Given the description of an element on the screen output the (x, y) to click on. 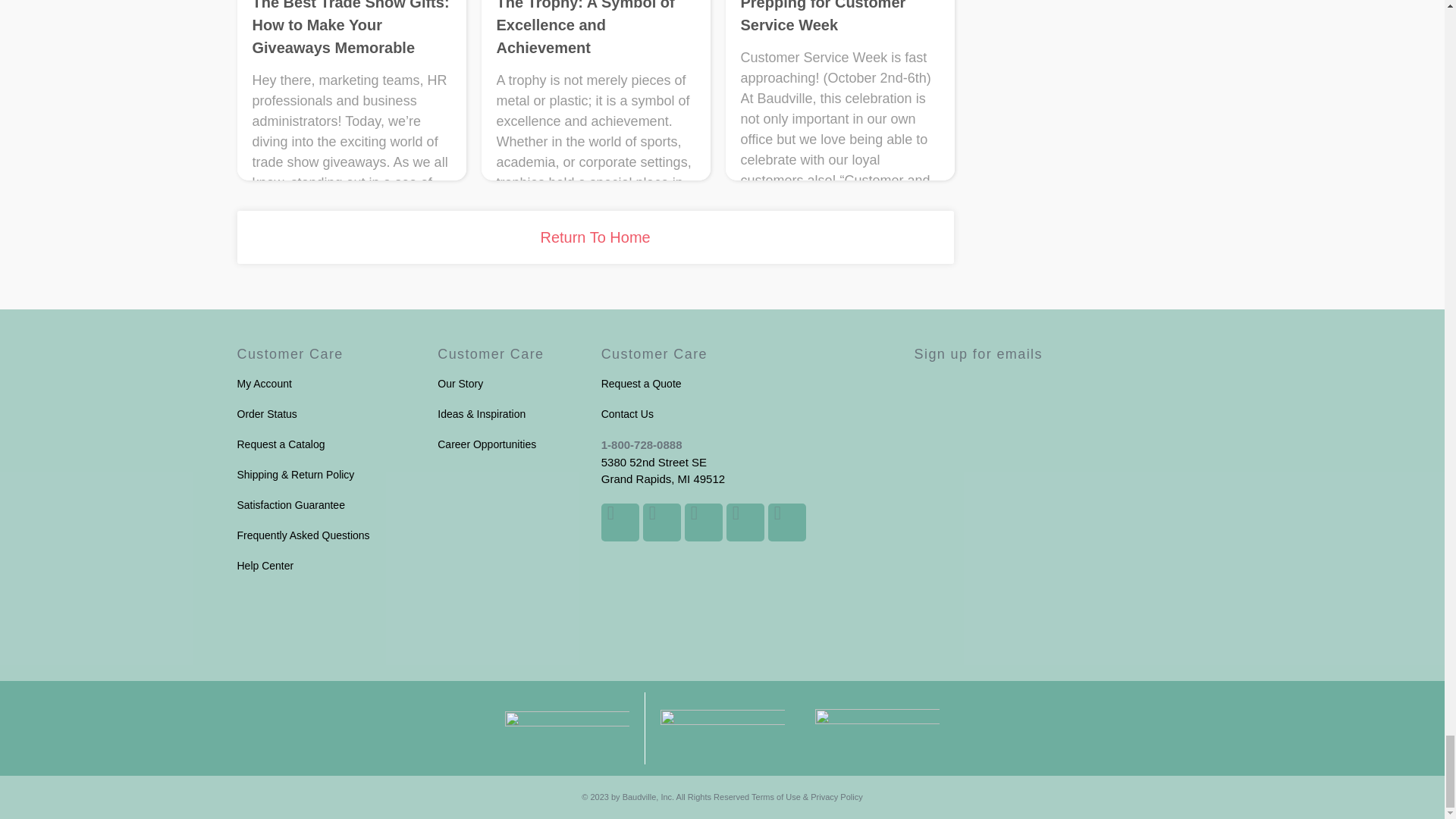
Form 1 (1061, 463)
